Given the description of an element on the screen output the (x, y) to click on. 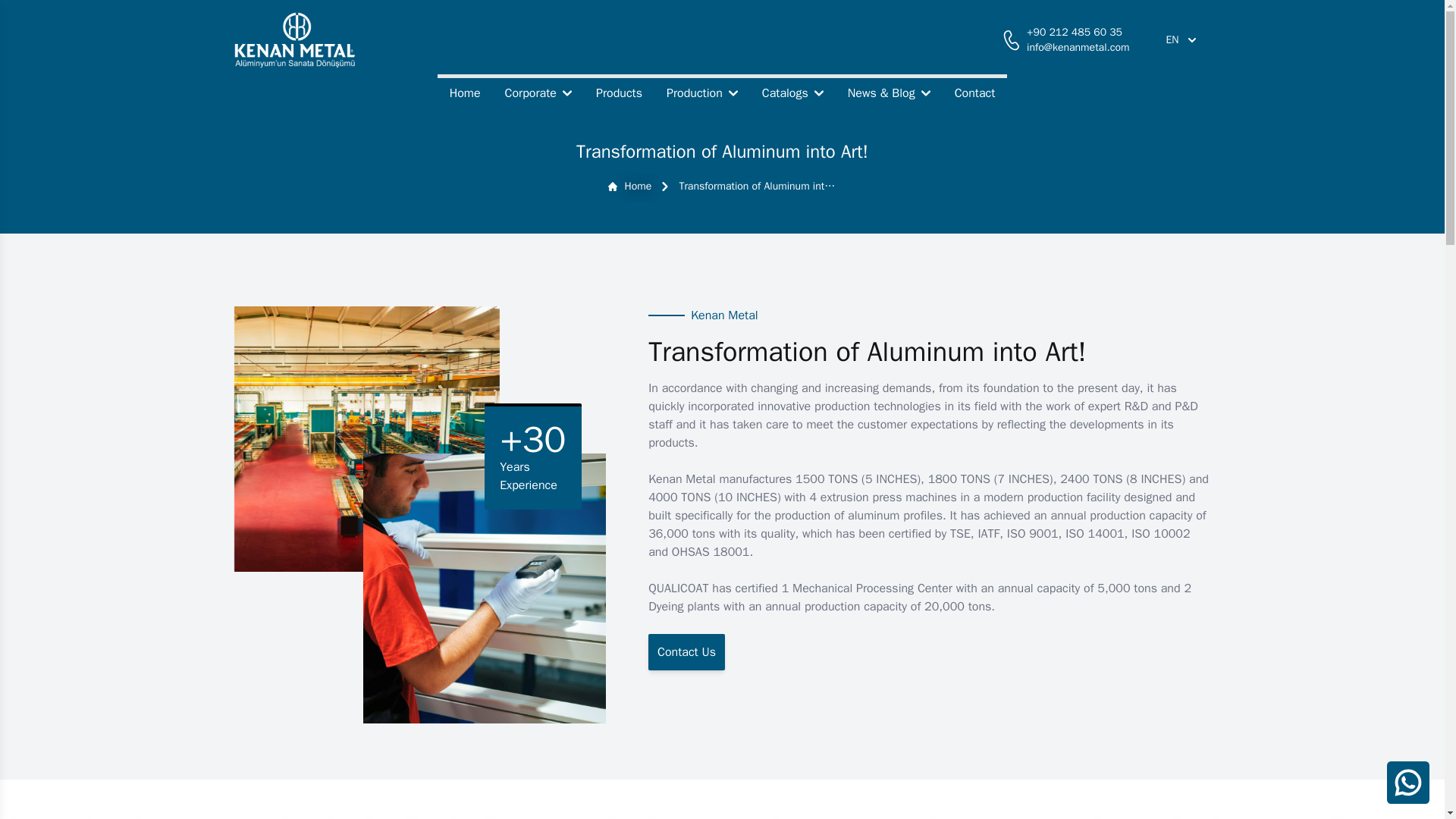
Products (618, 93)
Catalogs (792, 93)
Corporate (538, 93)
EN (1179, 39)
Contact (974, 93)
Production (701, 93)
Home (465, 93)
